Given the description of an element on the screen output the (x, y) to click on. 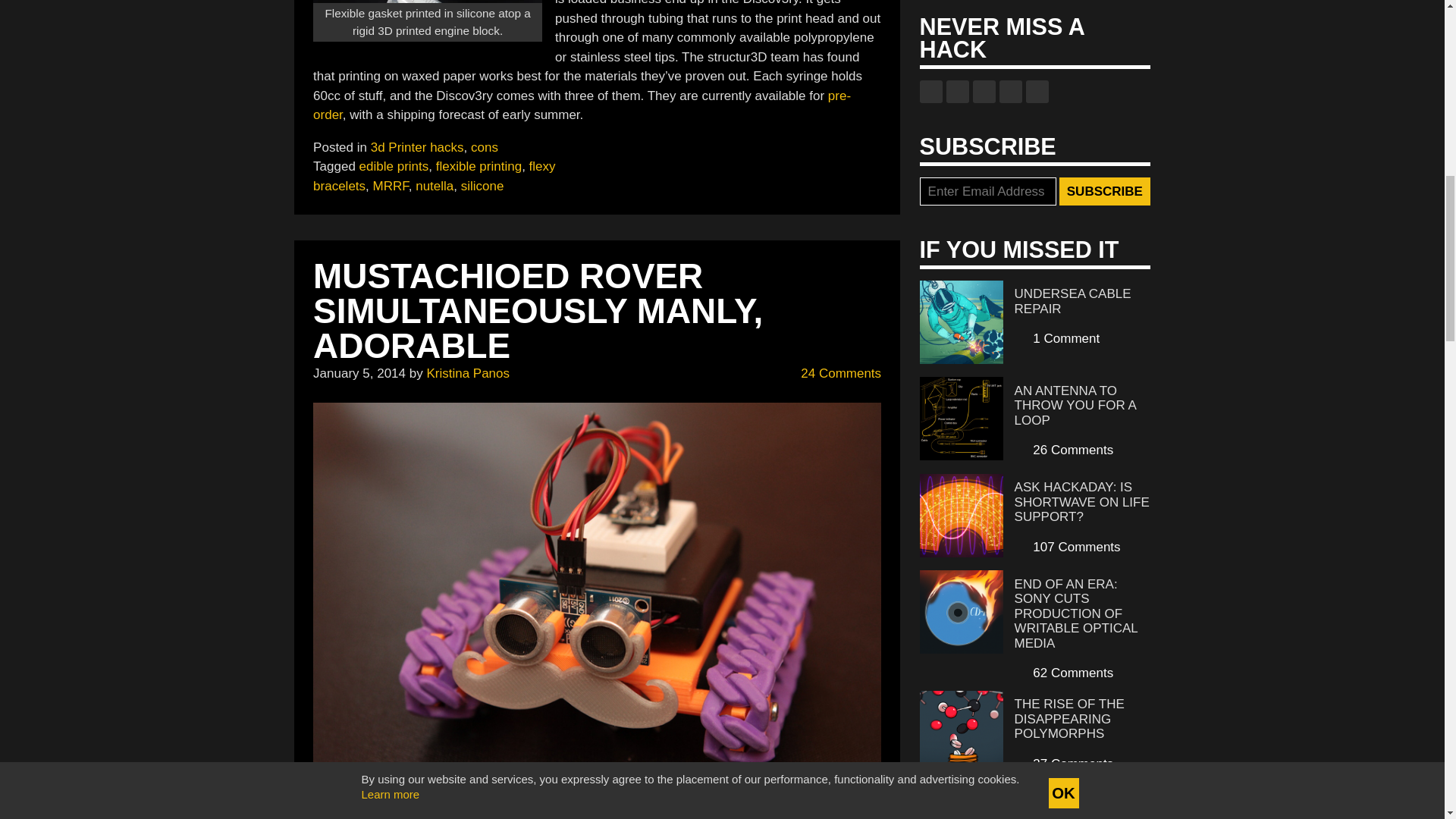
January 5, 2014 - 1:00 pm (359, 373)
silicone (482, 186)
pre-order (581, 105)
MRRF (390, 186)
January 5, 2014 (359, 373)
3d Printer hacks (417, 147)
Red Rover, a low-cost robot (637, 809)
cons (483, 147)
flexible printing (478, 165)
Subscribe (1104, 191)
Posts by Kristina Panos (467, 373)
Kristina Panos (467, 373)
24 Comments (832, 373)
flexy bracelets (433, 175)
edible prints (394, 165)
